Given the description of an element on the screen output the (x, y) to click on. 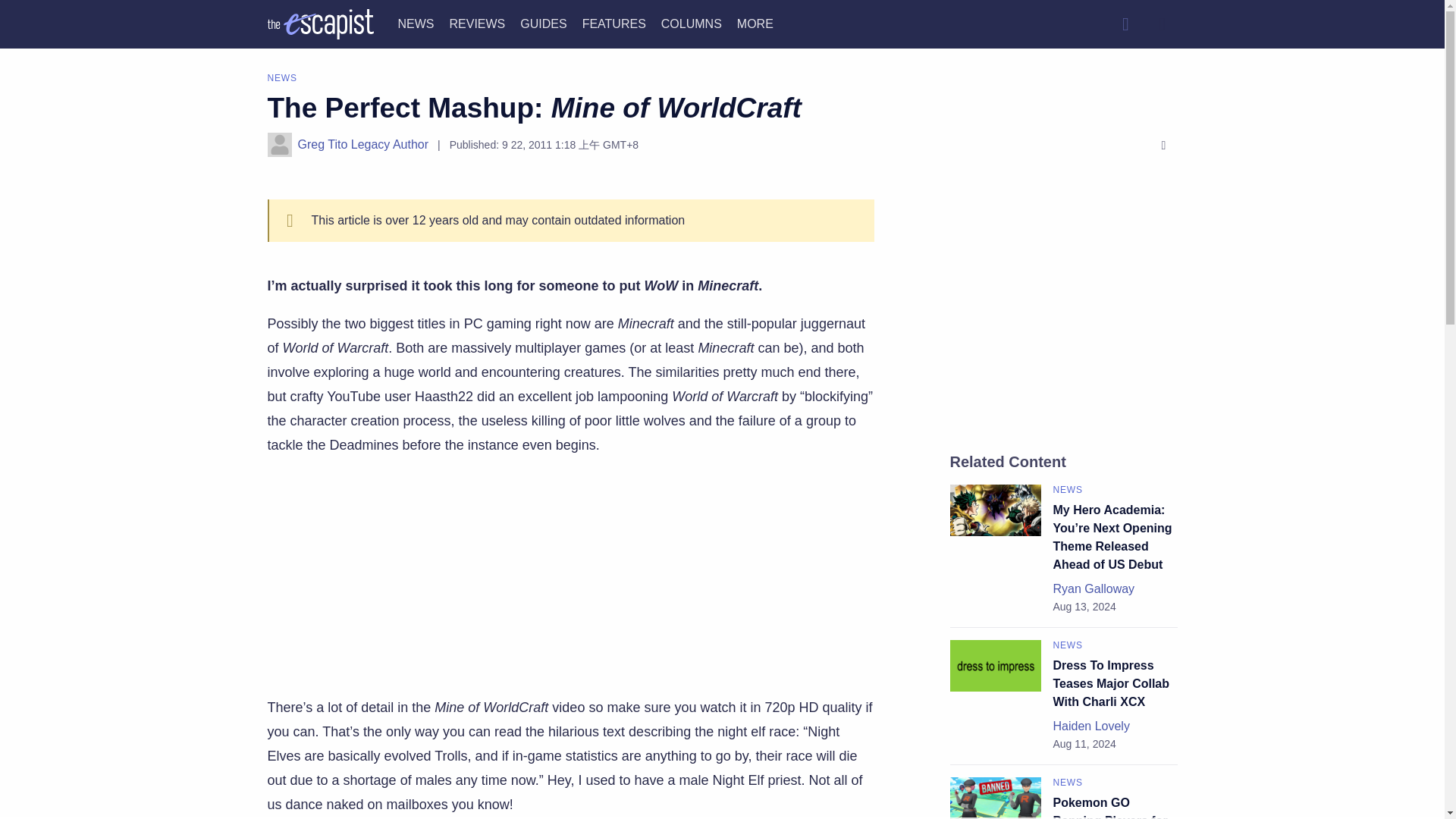
NEWS (415, 23)
GUIDES (542, 23)
REVIEWS (476, 23)
Search (1124, 24)
Dark Mode (1161, 24)
COLUMNS (691, 23)
FEATURES (614, 23)
